Given the description of an element on the screen output the (x, y) to click on. 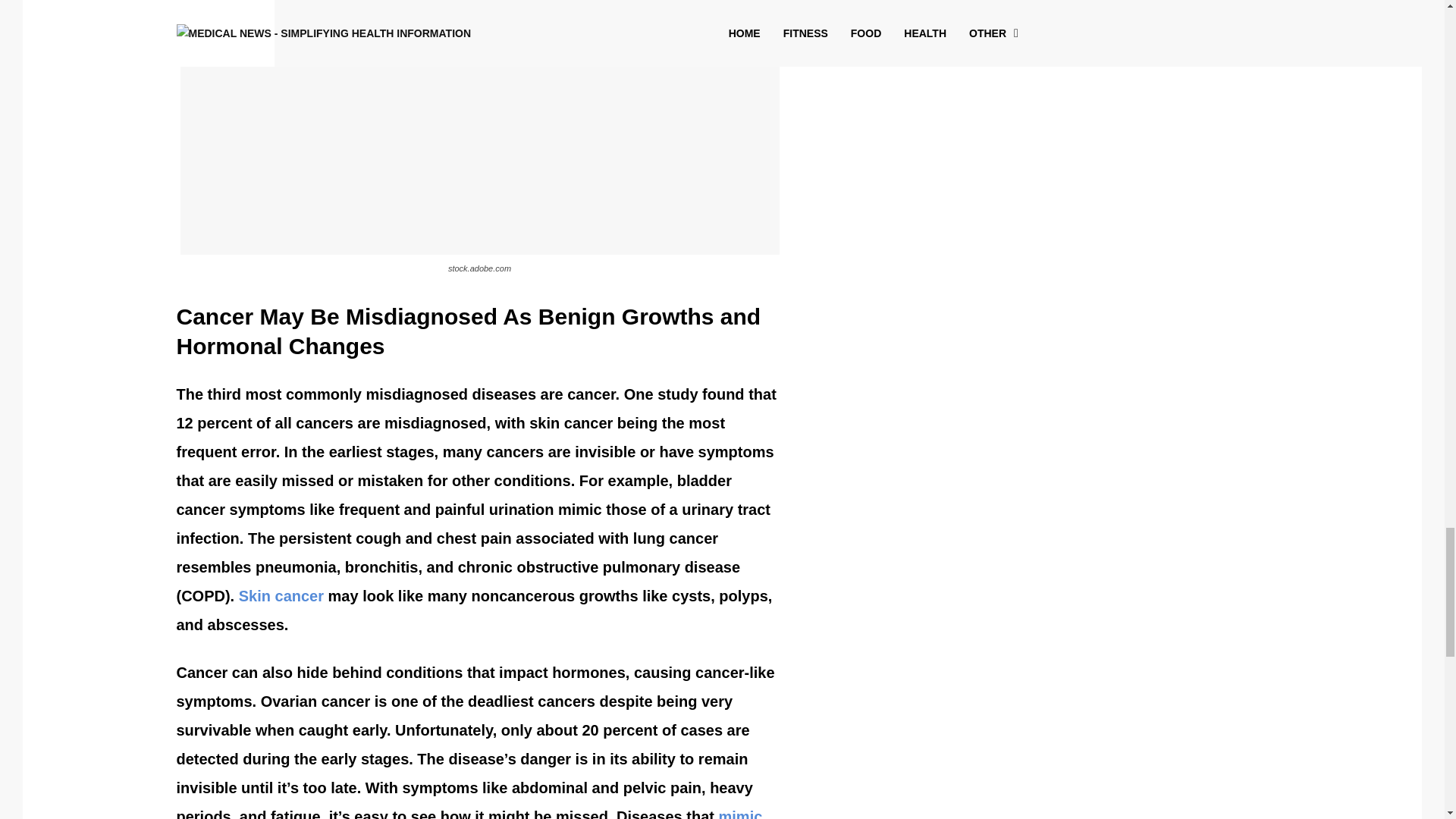
mimic ovarian cancer (468, 813)
Skin cancer (280, 596)
